Given the description of an element on the screen output the (x, y) to click on. 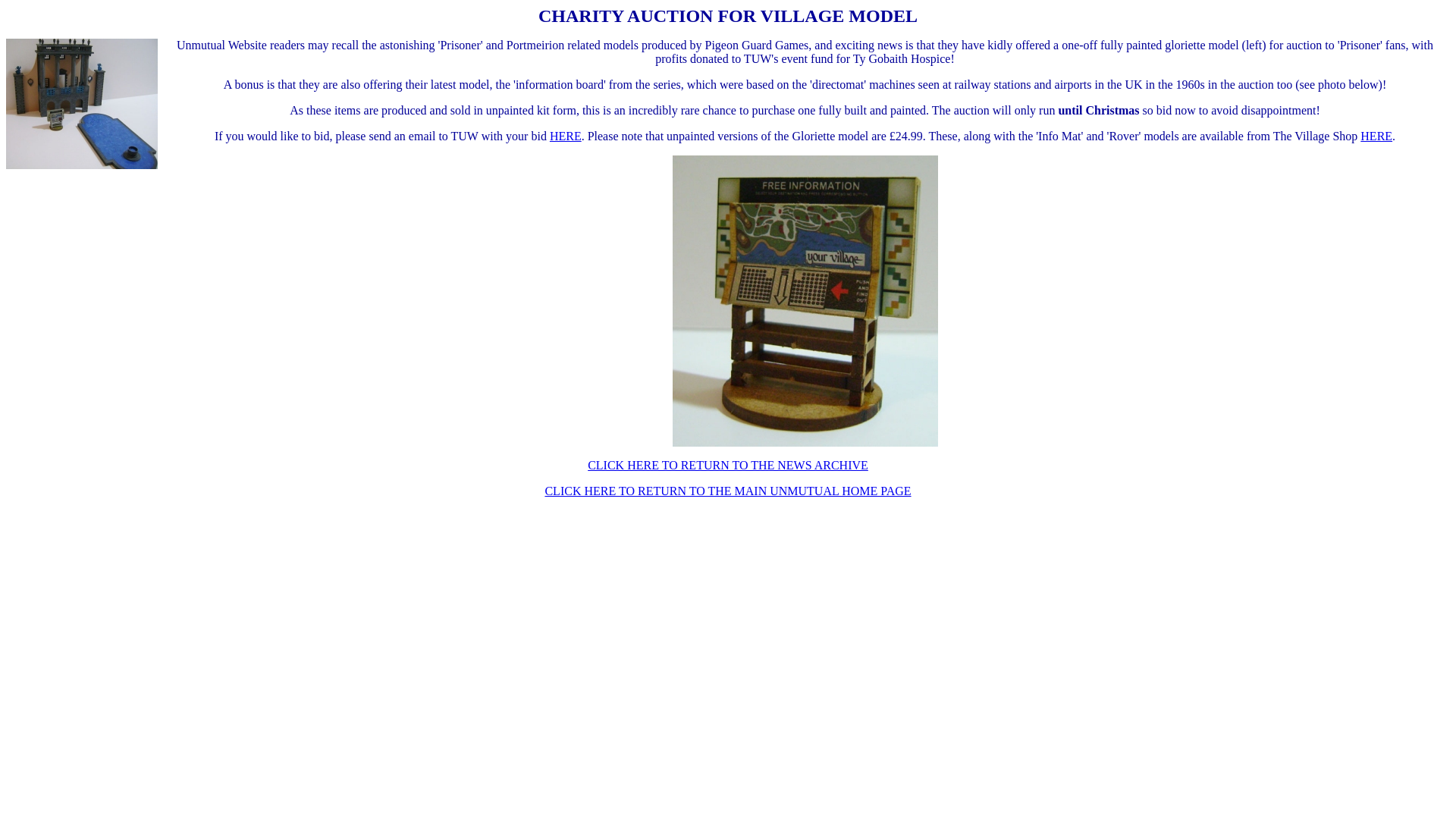
CLICK HERE TO RETURN TO THE MAIN UNMUTUAL HOME PAGE (727, 490)
CLICK HERE TO RETURN TO THE NEWS ARCHIVE (727, 464)
HERE (565, 135)
HERE (1375, 135)
